Given the description of an element on the screen output the (x, y) to click on. 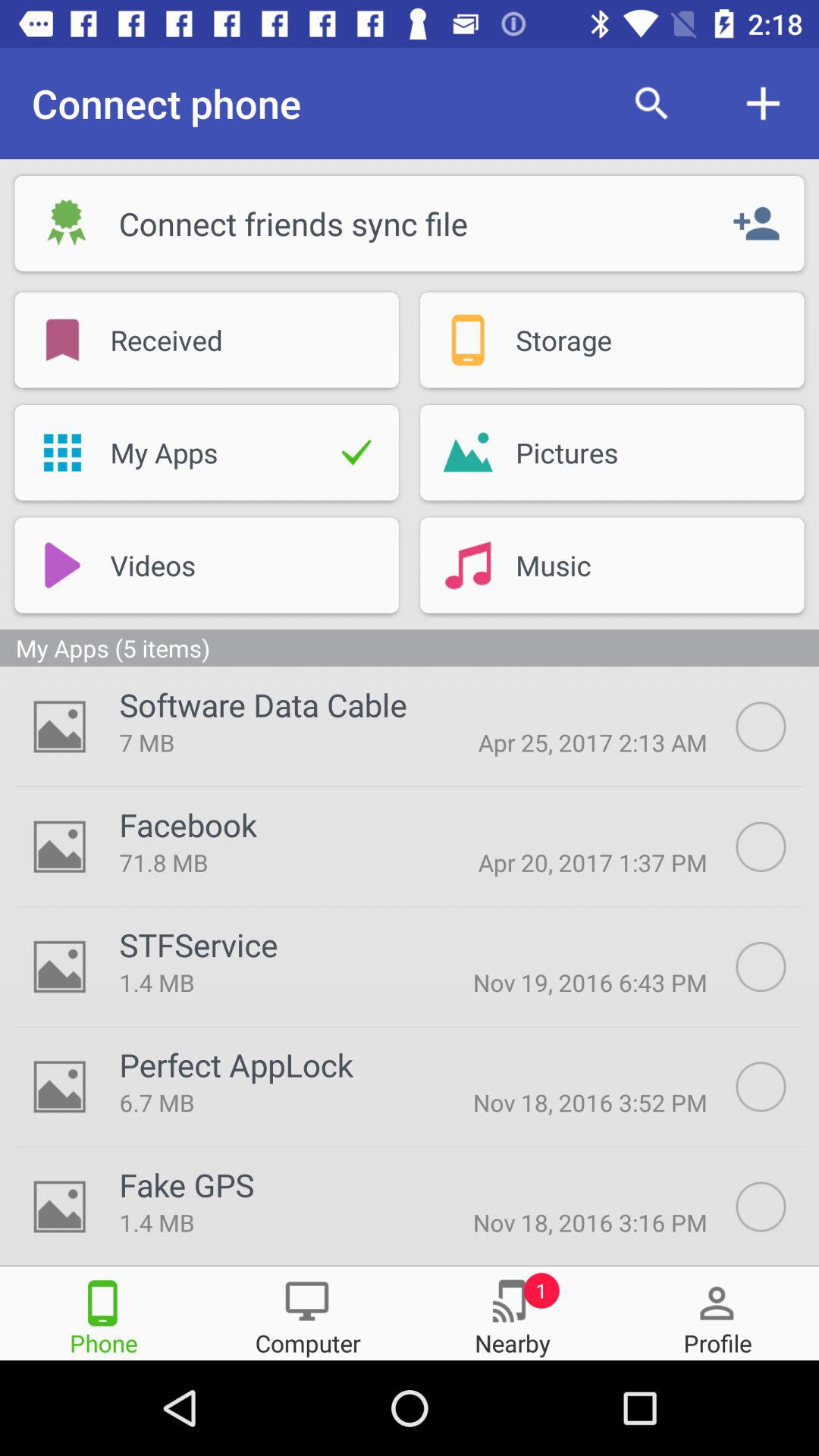
select file (777, 1206)
